Given the description of an element on the screen output the (x, y) to click on. 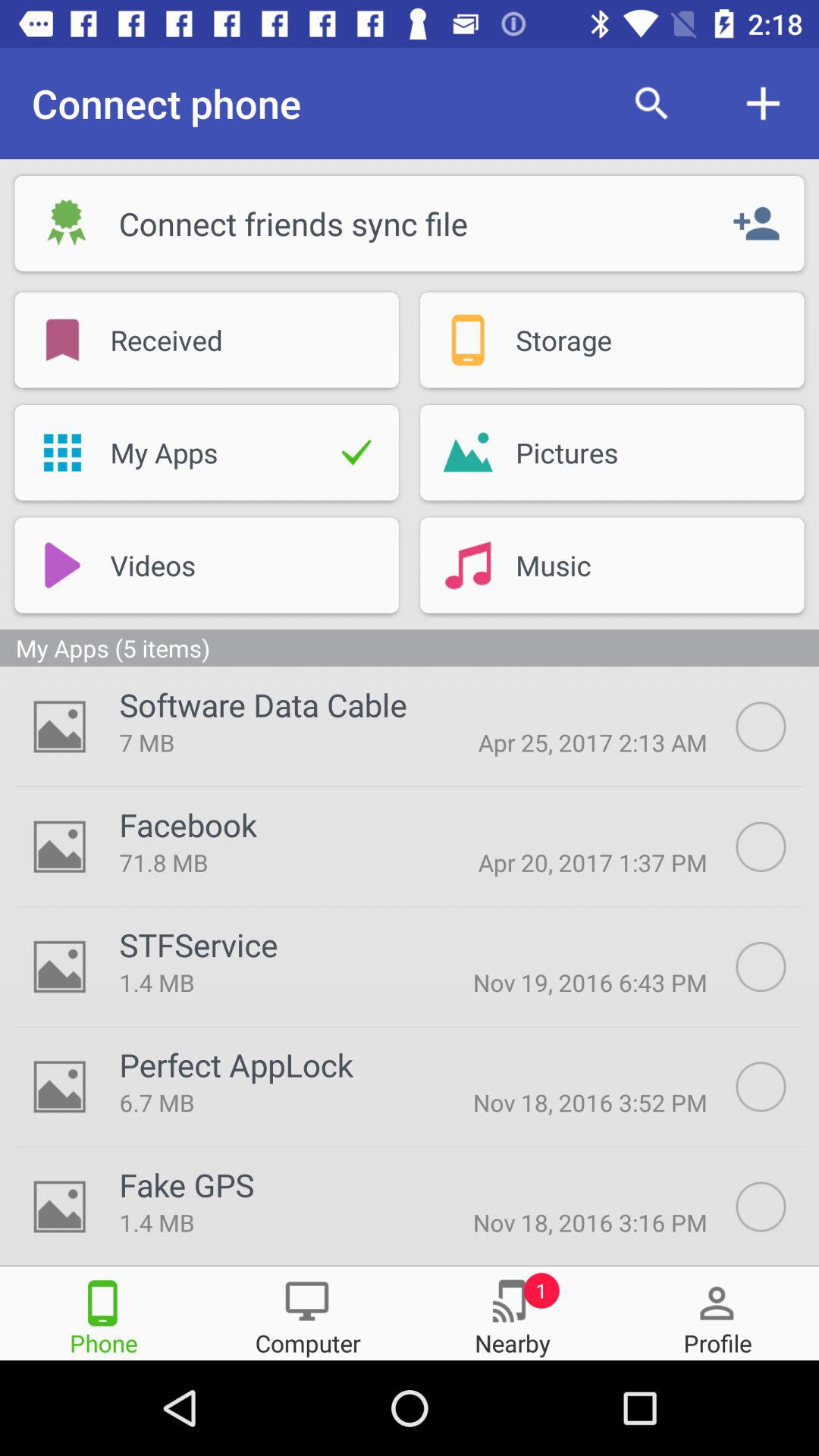
select file (777, 1206)
